Given the description of an element on the screen output the (x, y) to click on. 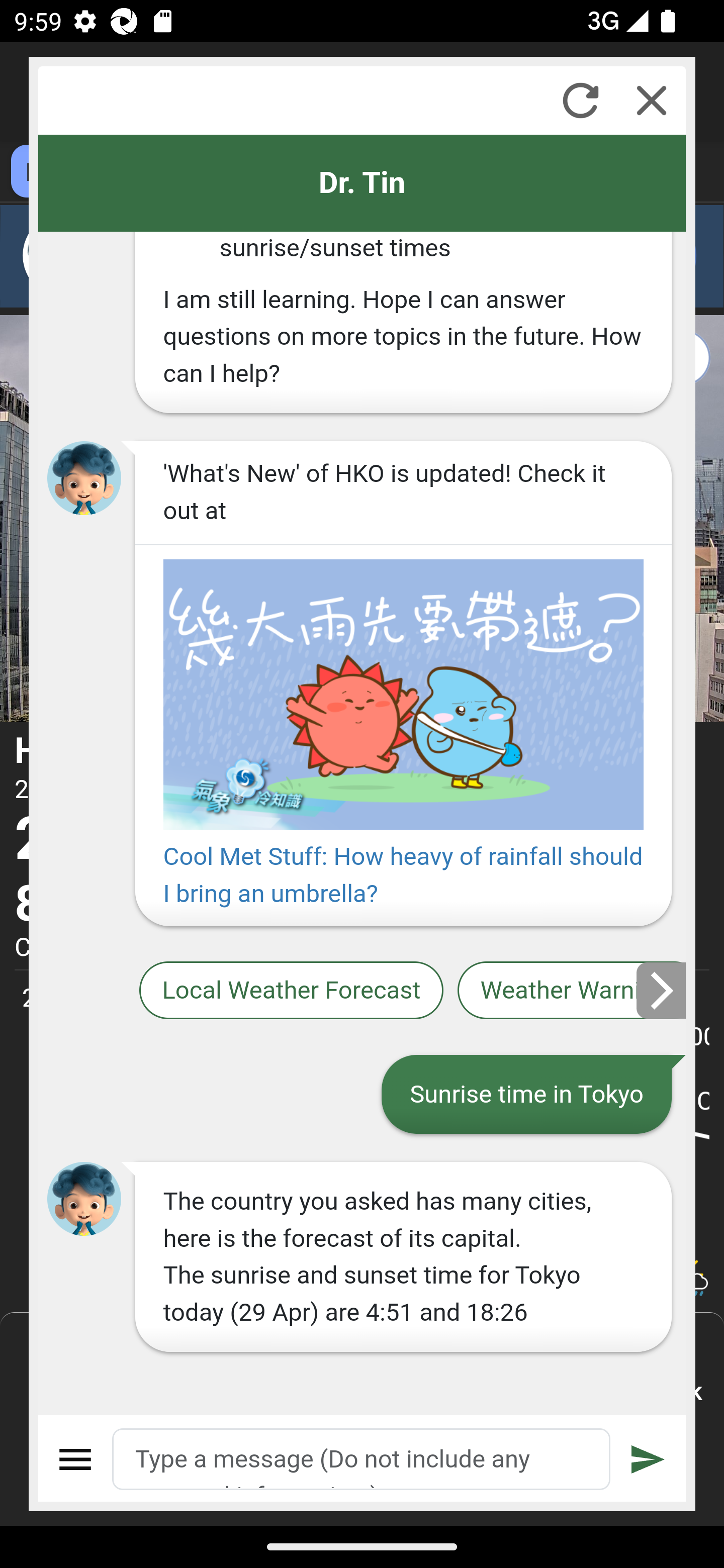
Refresh (580, 100)
Close (651, 100)
Local Weather Forecast (291, 990)
Weather Warnings (571, 990)
Next slide (661, 990)
Menu (75, 1458)
Submit (648, 1458)
